Given the description of an element on the screen output the (x, y) to click on. 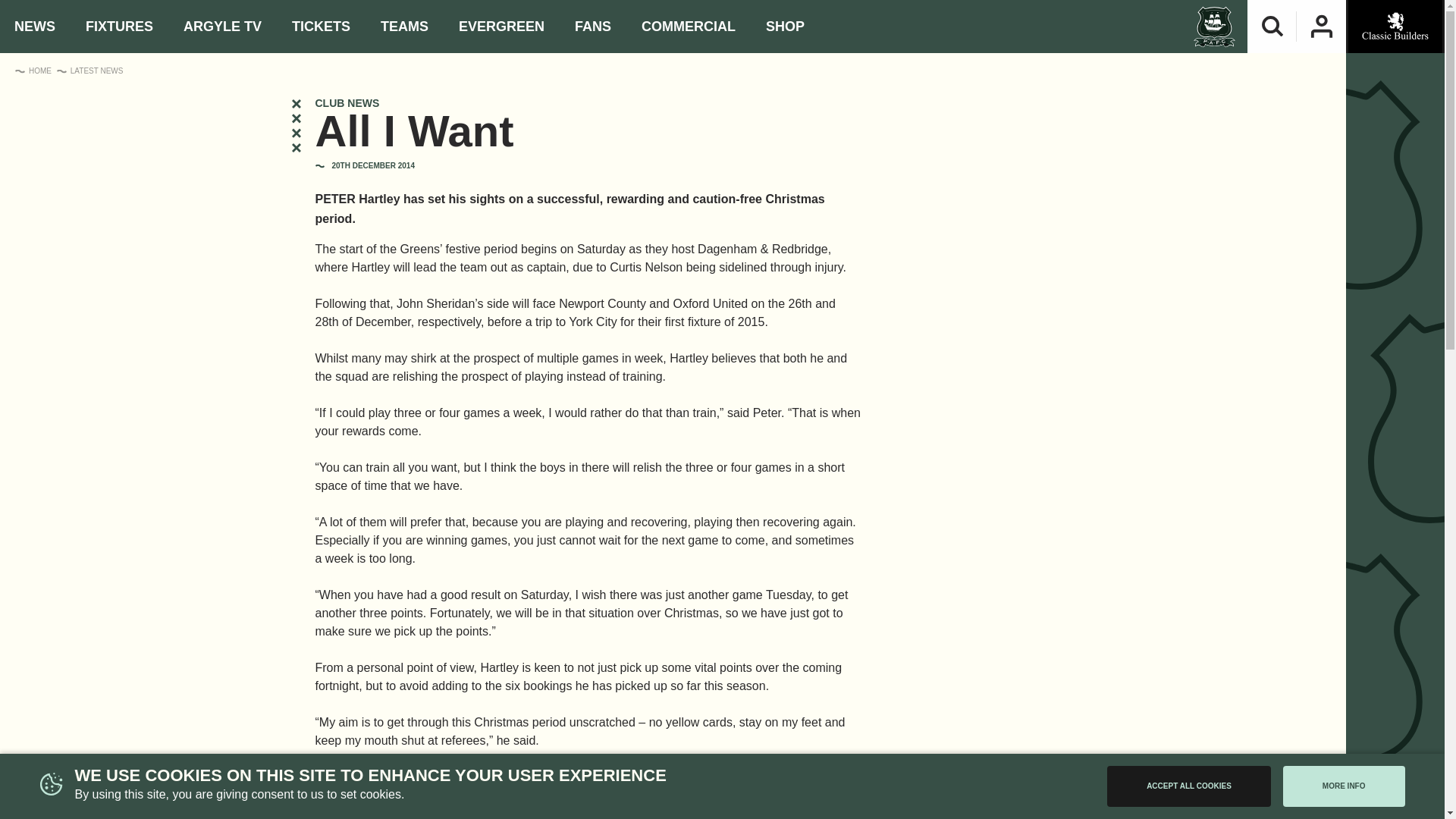
FIXTURES (118, 26)
ARGYLE TV (222, 26)
Plymouth Argyle Football Club (1213, 26)
